Given the description of an element on the screen output the (x, y) to click on. 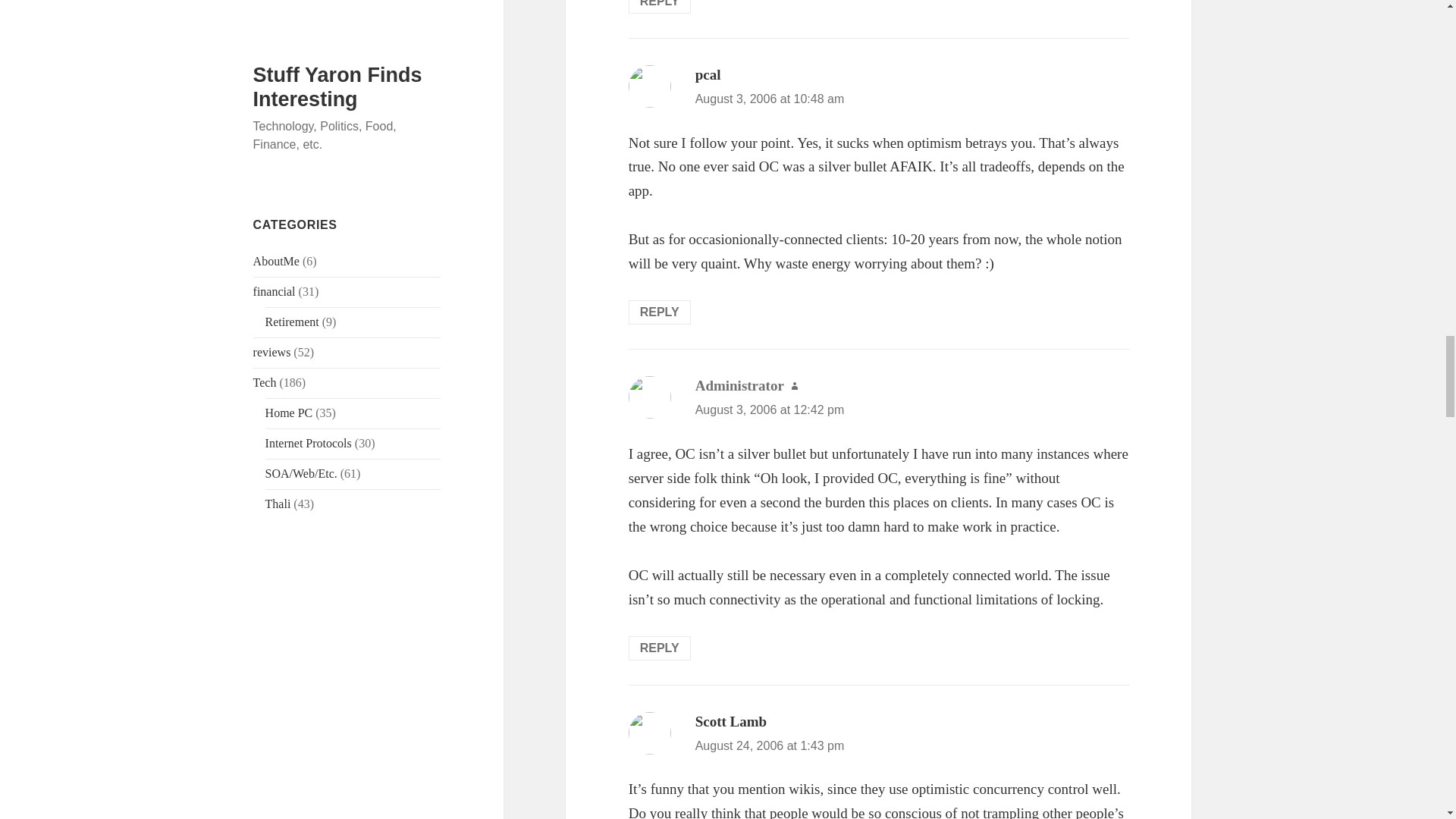
August 3, 2006 at 12:42 pm (769, 409)
Scott Lamb (731, 721)
pcal (707, 74)
REPLY (659, 312)
REPLY (659, 6)
August 24, 2006 at 1:43 pm (769, 745)
REPLY (659, 648)
August 3, 2006 at 10:48 am (769, 98)
